Given the description of an element on the screen output the (x, y) to click on. 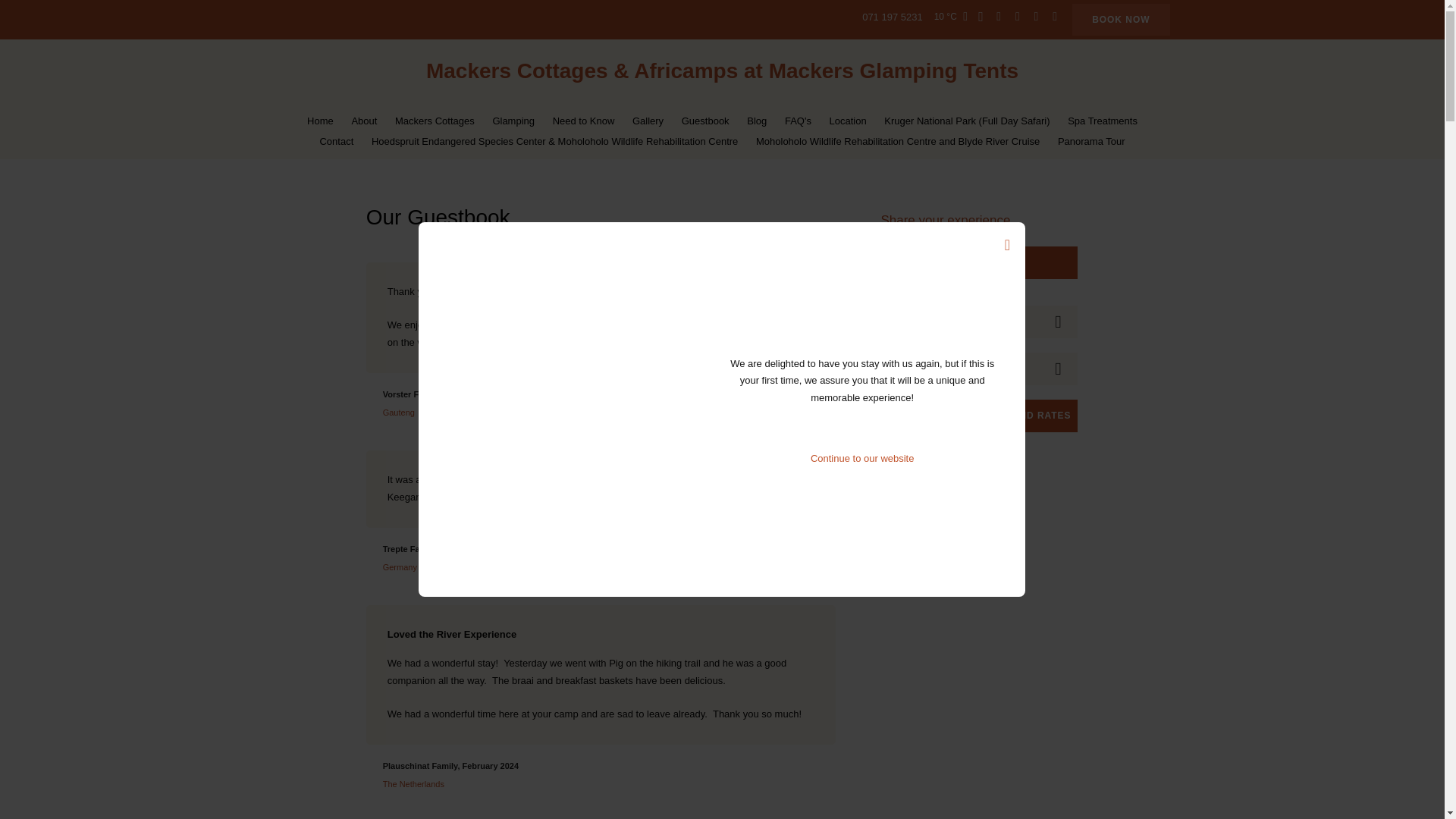
Check Availability and Rates (978, 415)
